Given the description of an element on the screen output the (x, y) to click on. 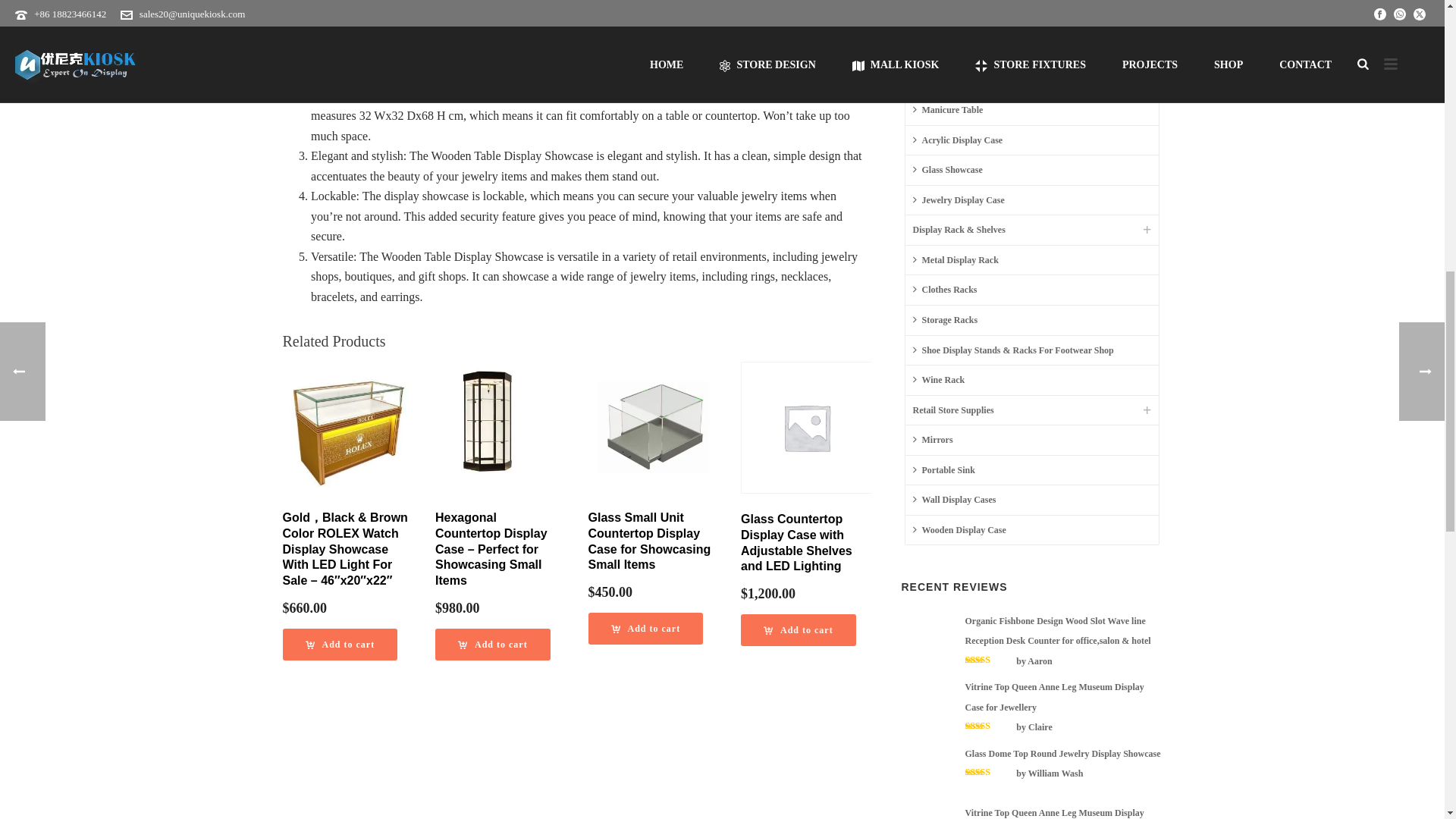
Rated 5 out of 5 (988, 659)
Rated 5 out of 5 (988, 771)
Rated 5 out of 5 (988, 725)
